Given the description of an element on the screen output the (x, y) to click on. 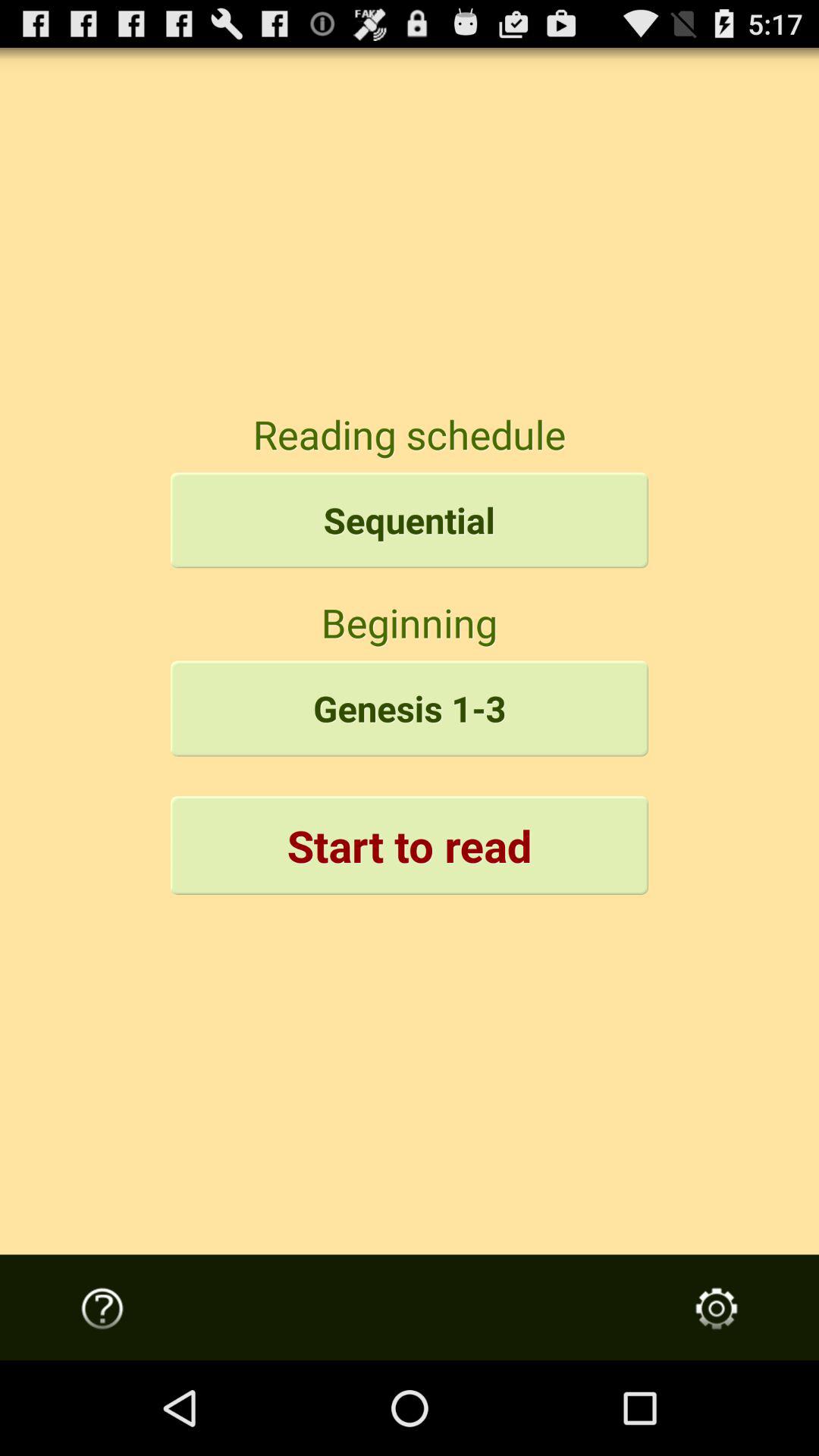
select the genesis 1-3 icon (409, 708)
